Given the description of an element on the screen output the (x, y) to click on. 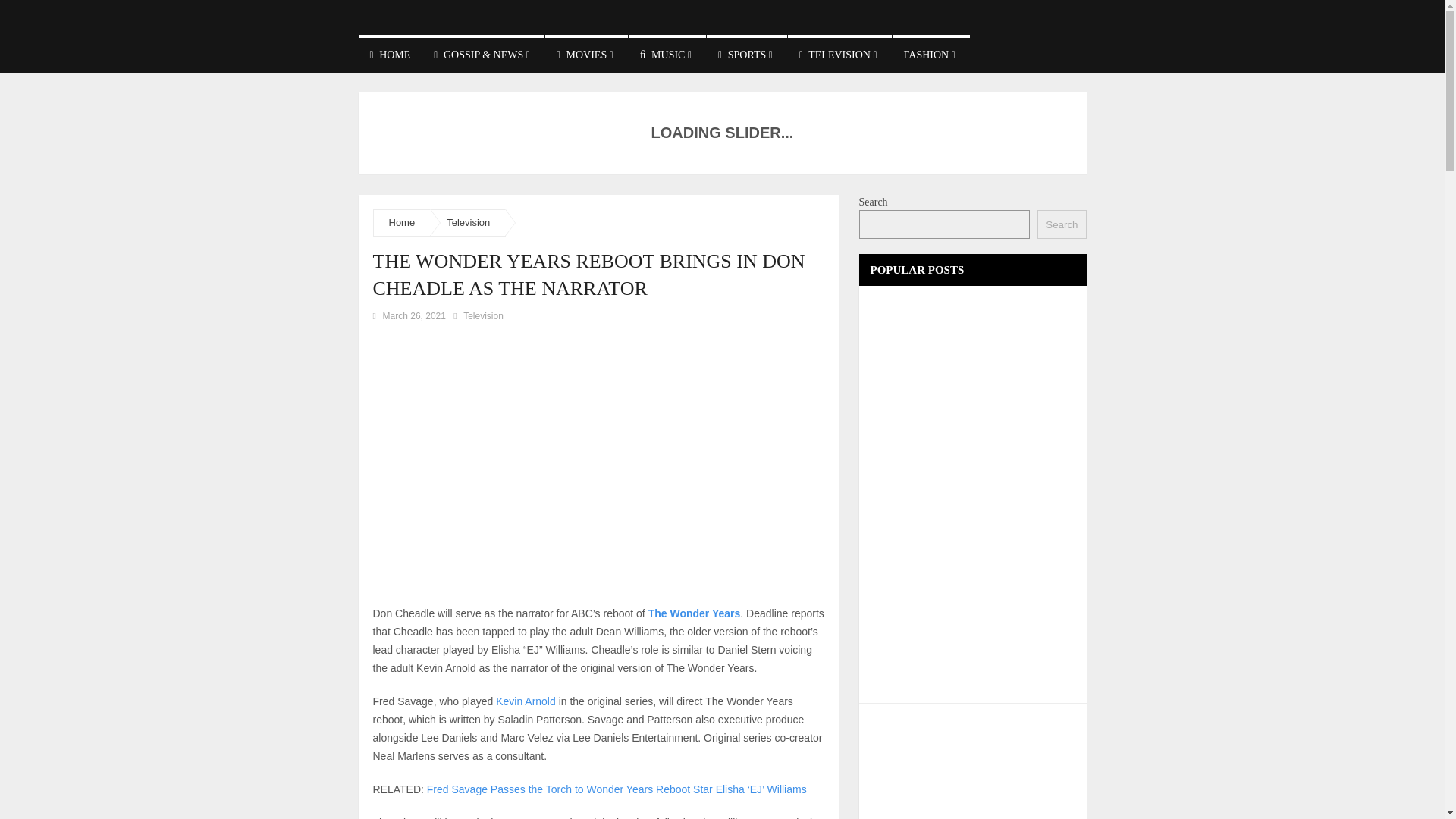
FASHION (930, 53)
MUSIC (667, 53)
The Wonder Years (694, 613)
MOVIES (585, 53)
Home (401, 222)
Kevin Arnold (526, 701)
Television (467, 222)
SPORTS (746, 53)
Television (483, 316)
TELEVISION (839, 53)
